Given the description of an element on the screen output the (x, y) to click on. 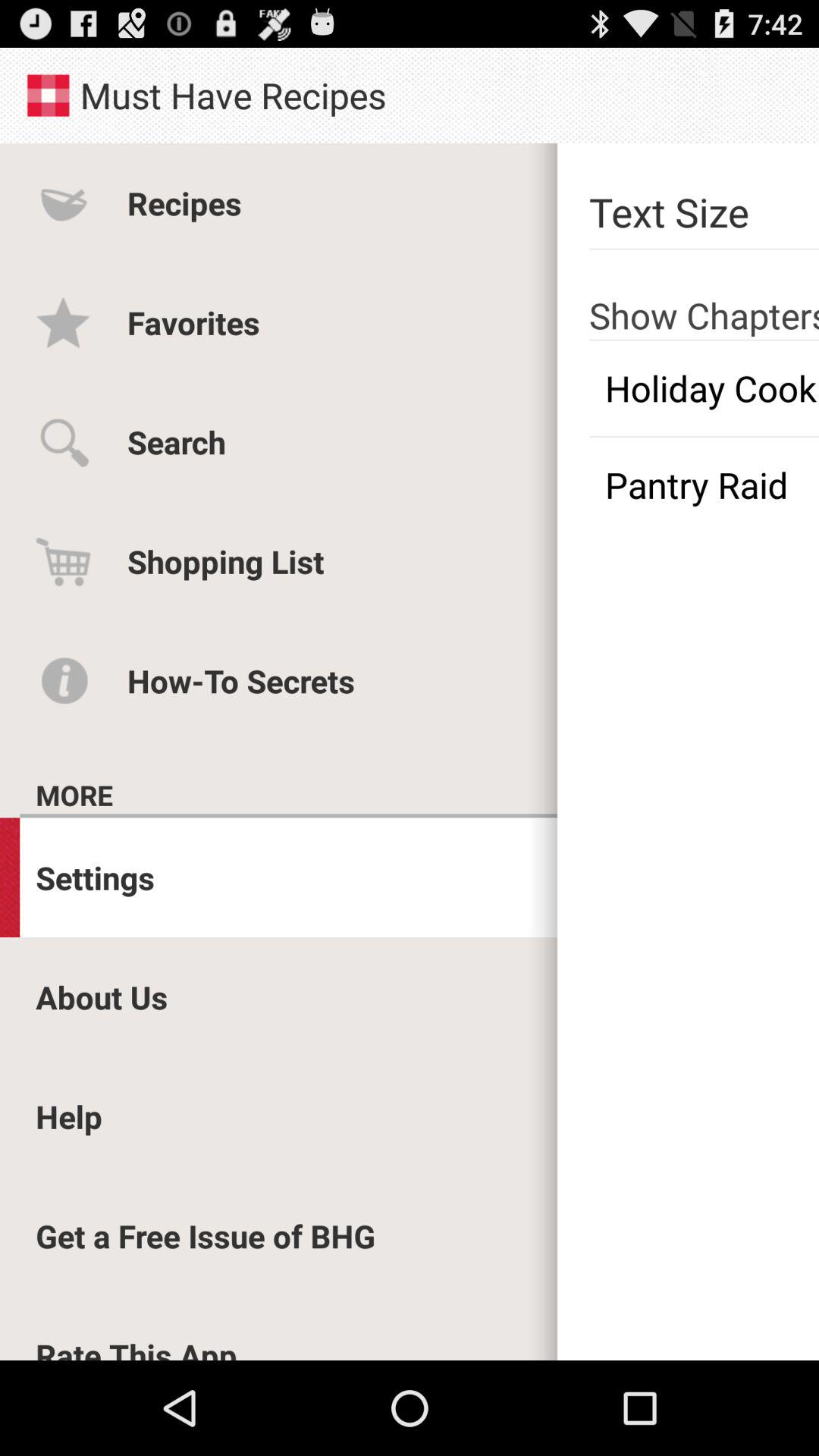
swipe to the settings (94, 877)
